Given the description of an element on the screen output the (x, y) to click on. 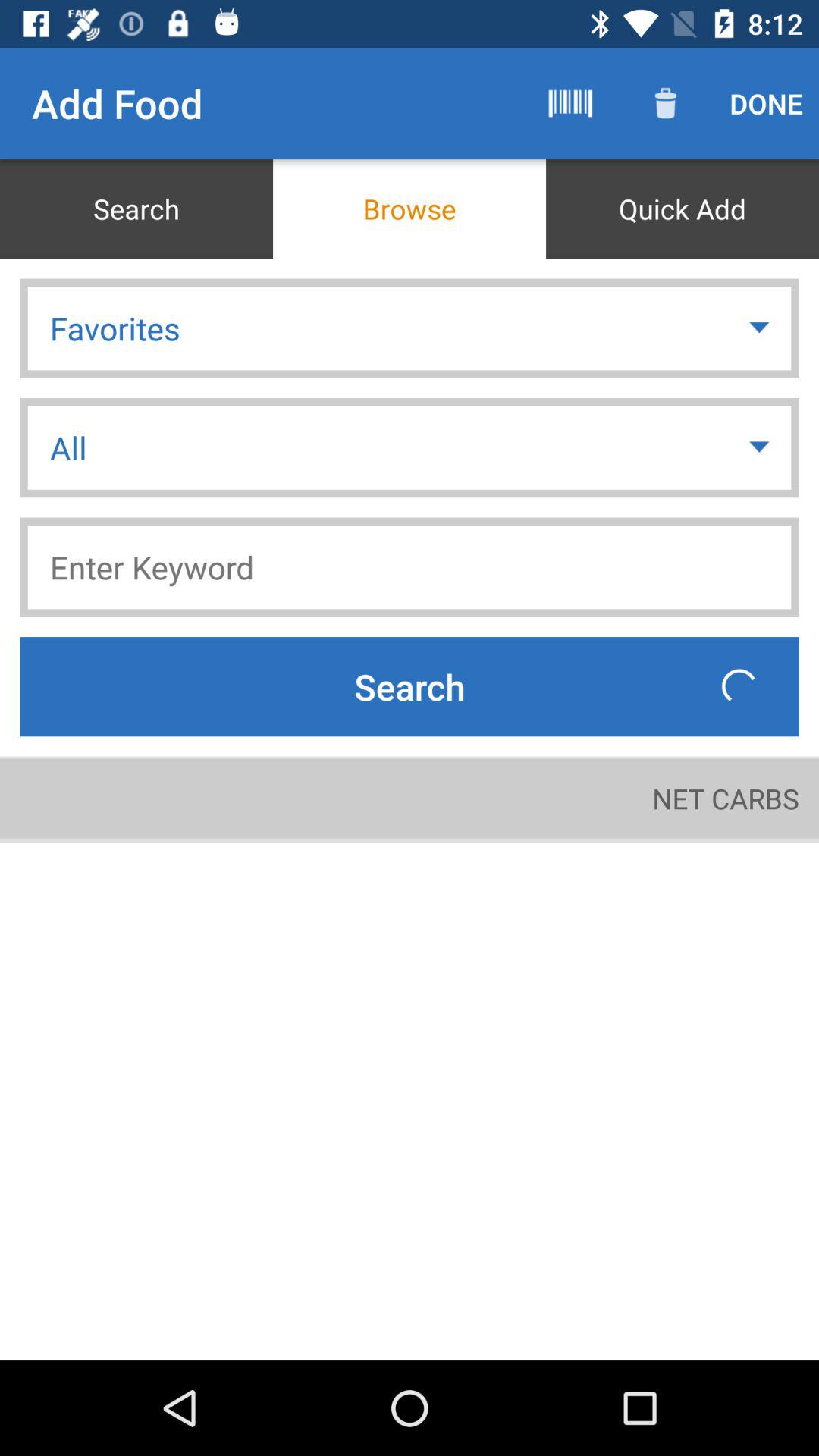
open the item above quick add item (665, 103)
